Given the description of an element on the screen output the (x, y) to click on. 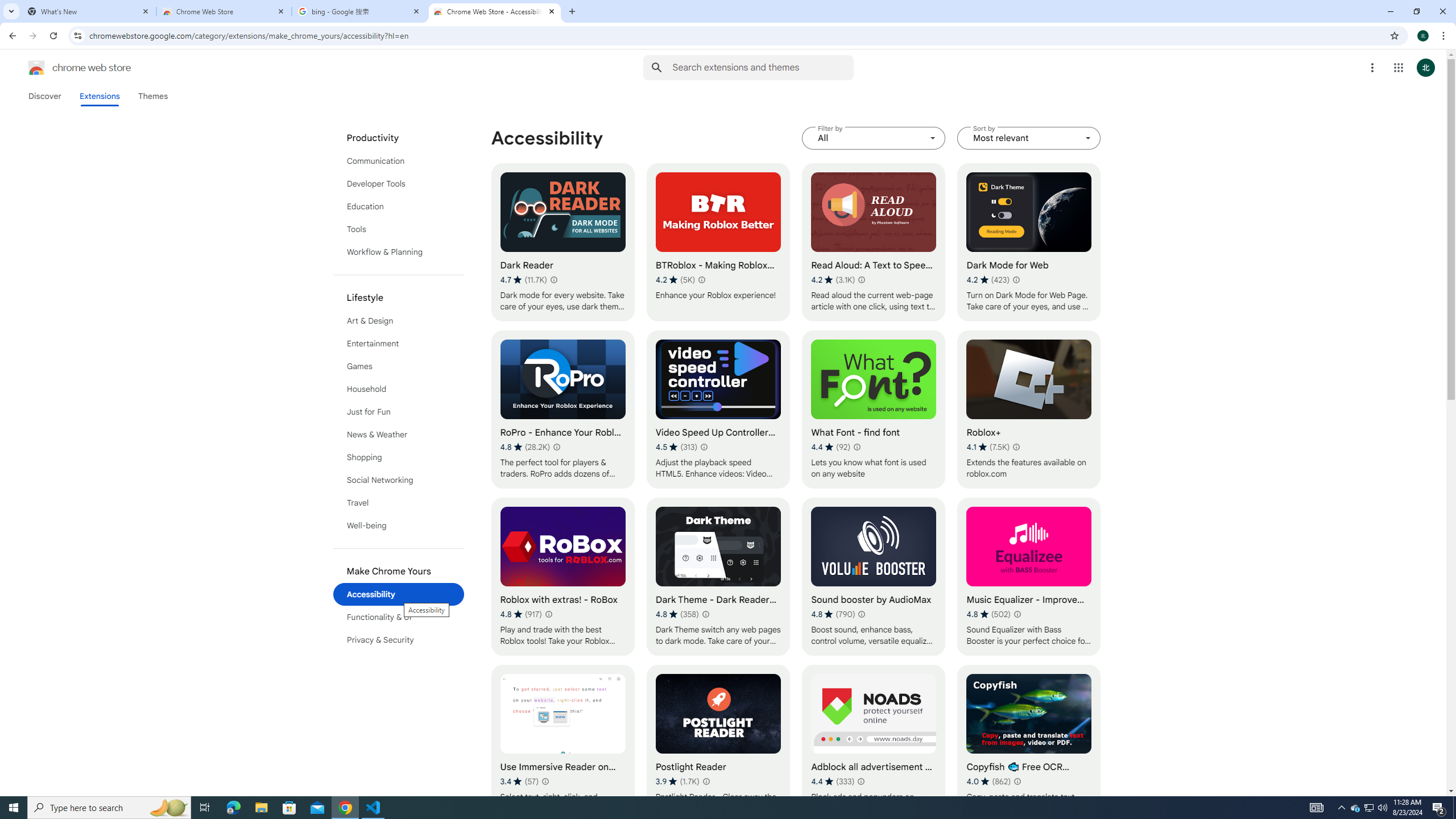
Average rating 4.8 out of 5 stars. 502 ratings. (988, 613)
Games (398, 365)
Average rating 4.4 out of 5 stars. 92 ratings. (830, 446)
What's New (88, 11)
Chrome Web Store logo chrome web store (67, 67)
Chrome Web Store (224, 11)
Read Aloud: A Text to Speech Voice Reader (874, 241)
Accessibility (selected) (398, 594)
Social Networking (398, 479)
Average rating 4.1 out of 5 stars. 7.5K ratings. (988, 446)
